Given the description of an element on the screen output the (x, y) to click on. 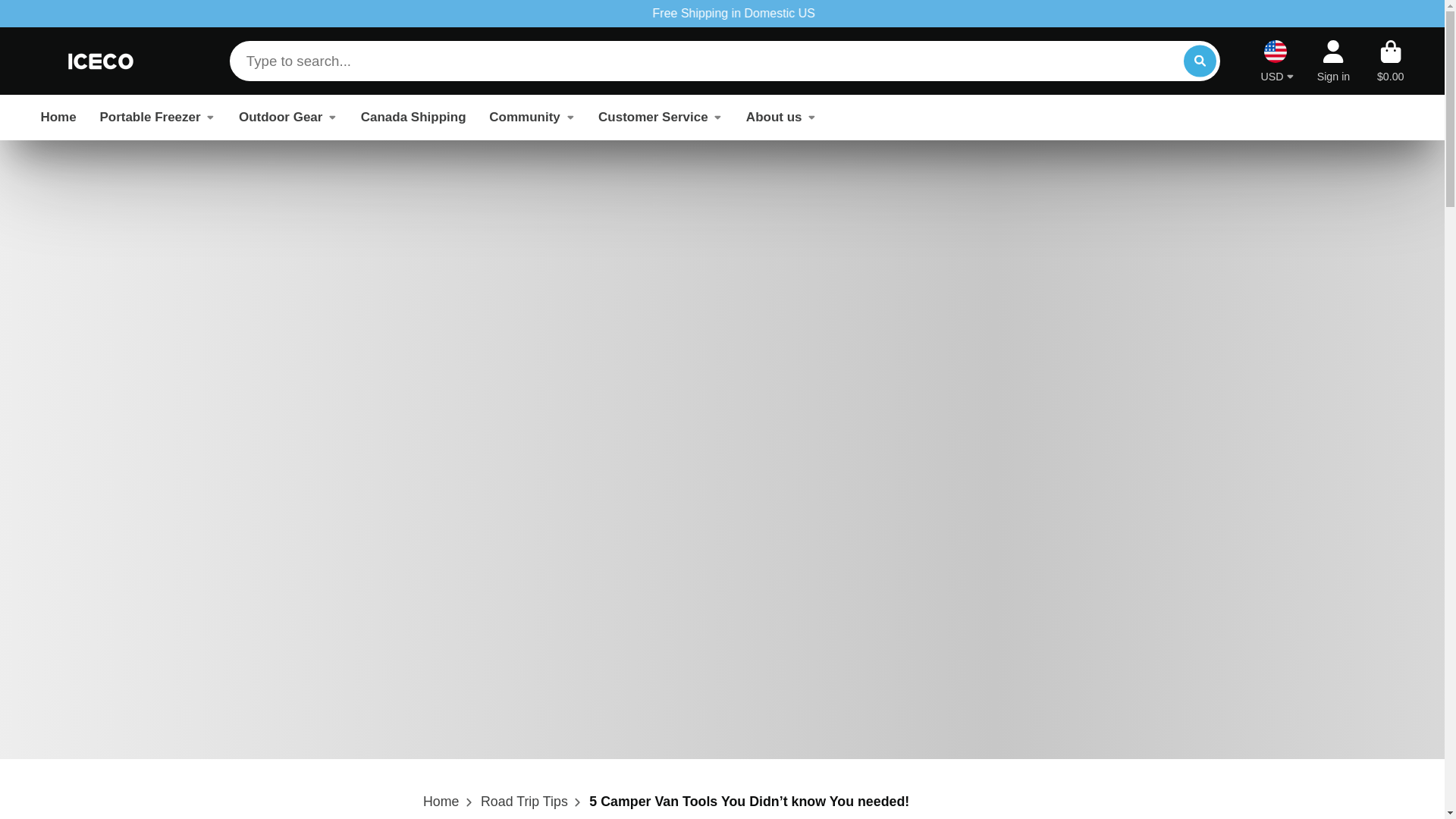
Home (441, 801)
Canada Shipping (413, 117)
Community (532, 117)
Portable Freezer (157, 117)
Customer Service (660, 117)
About us (780, 117)
Outdoor Gear (287, 117)
Logo (100, 60)
